Given the description of an element on the screen output the (x, y) to click on. 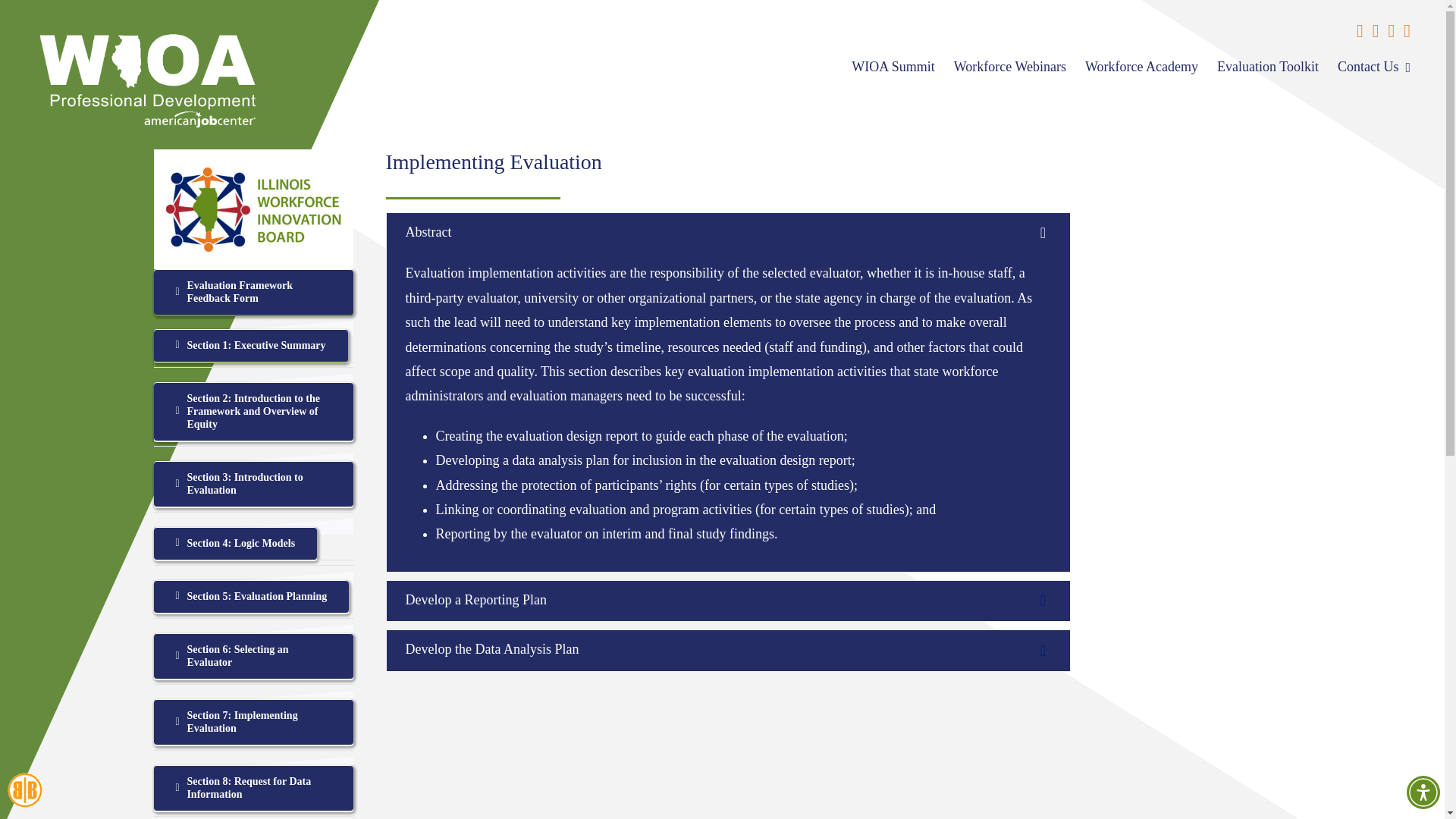
Section 3: Introduction to Evaluation (252, 483)
Section 5: Evaluation Planning (250, 595)
Workforce Academy (1141, 67)
Section 8: Request for Data Information (252, 787)
Workforce Webinars (1009, 67)
Contact Us (1374, 67)
Evaluation Toolkit (1268, 67)
Section 6: Selecting an Evaluator (252, 655)
Section 4: Logic Models (234, 543)
Web Change Request (24, 790)
Section 1: Executive Summary (249, 345)
Accessibility Menu (1422, 792)
Section 7: Implementing Evaluation (252, 721)
Develop the Data Analysis Plan (728, 649)
